Given the description of an element on the screen output the (x, y) to click on. 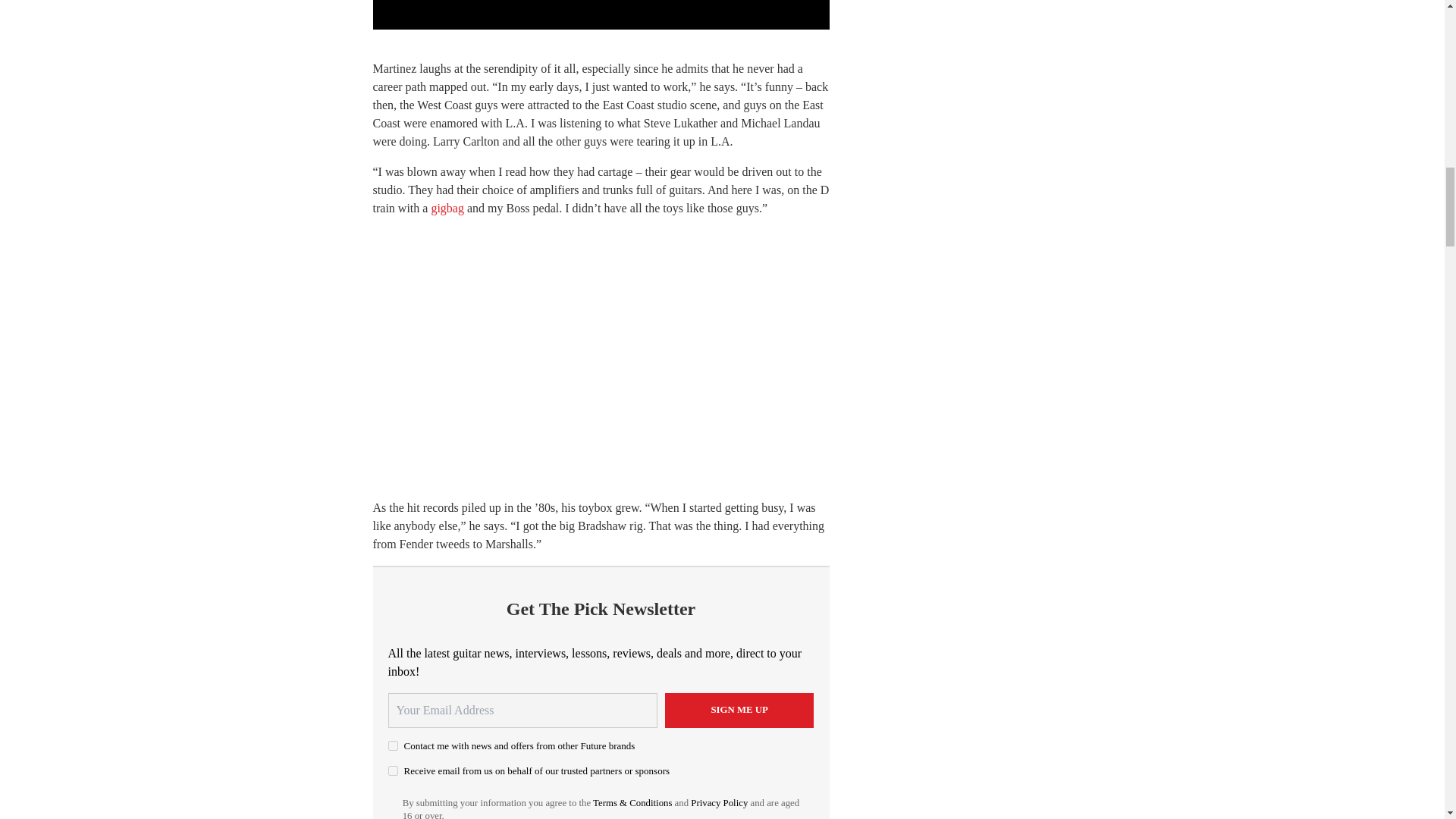
Sign me up (739, 710)
Sign me up (739, 710)
gigbag (447, 207)
on (392, 770)
on (392, 746)
